Given the description of an element on the screen output the (x, y) to click on. 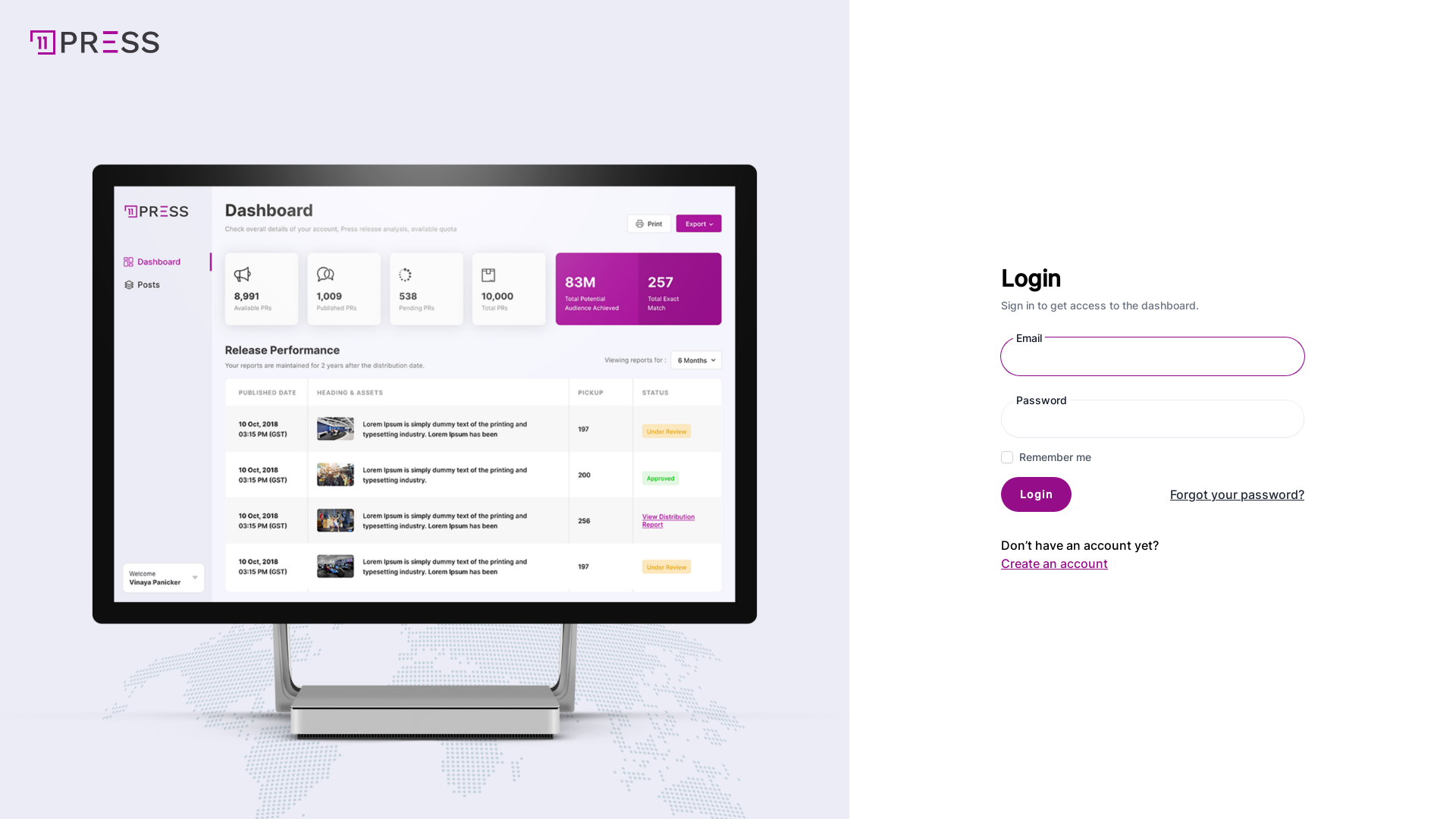
Login Element type: text (1036, 493)
Create an account Element type: text (1054, 563)
Forgot your password? Element type: text (1237, 494)
